Given the description of an element on the screen output the (x, y) to click on. 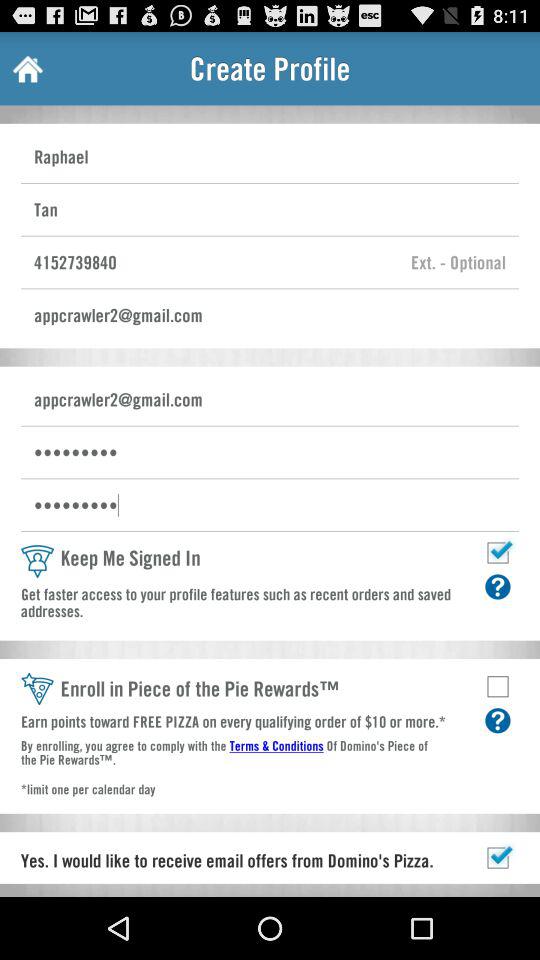
button of tick mark (498, 857)
